Given the description of an element on the screen output the (x, y) to click on. 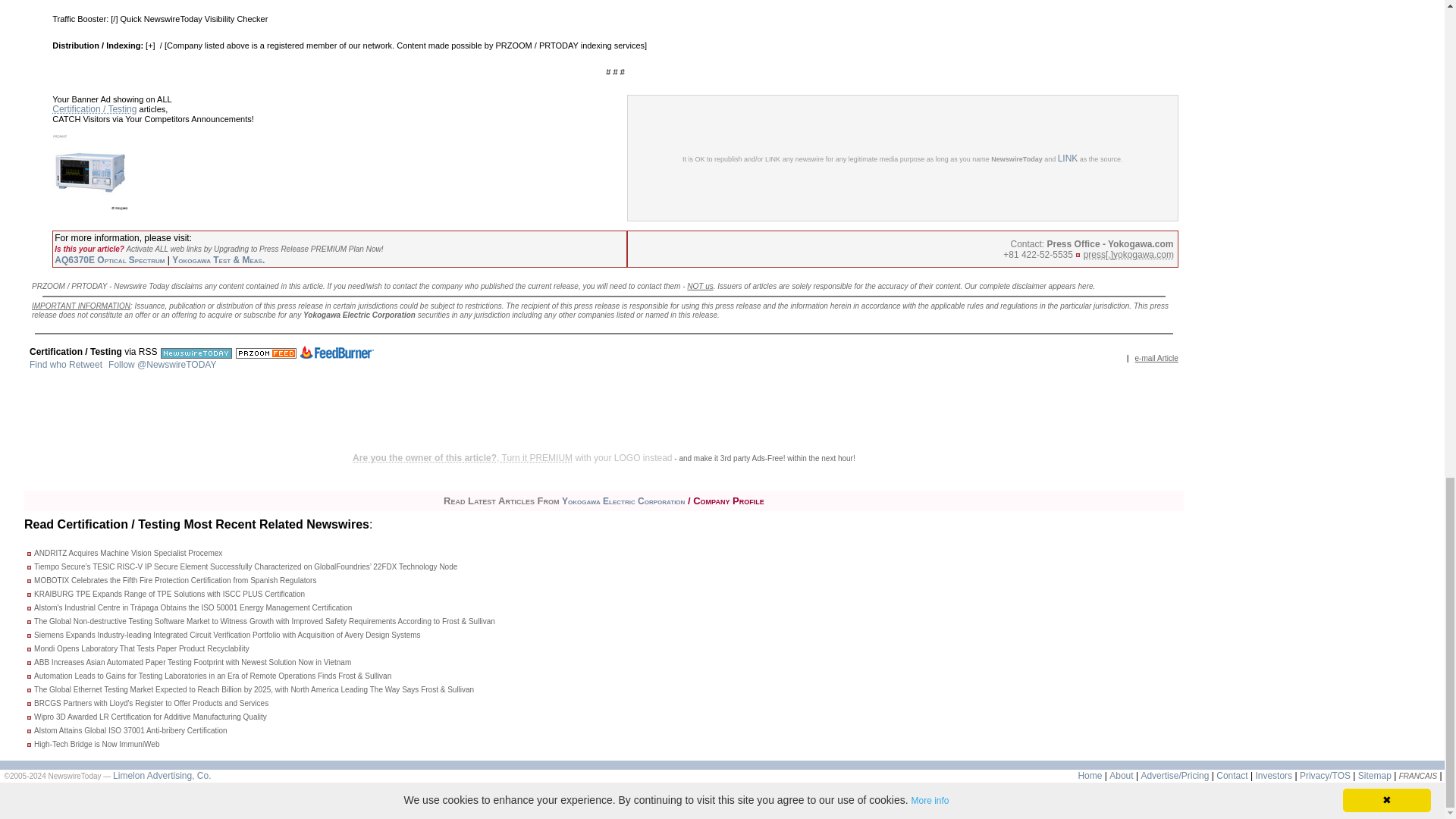
Find who Retweet (65, 364)
LINK (1068, 158)
Quick NewswireToday (161, 18)
AQ6370E Optical Spectrum (109, 259)
e-mail Article (1156, 357)
here (1085, 285)
